Given the description of an element on the screen output the (x, y) to click on. 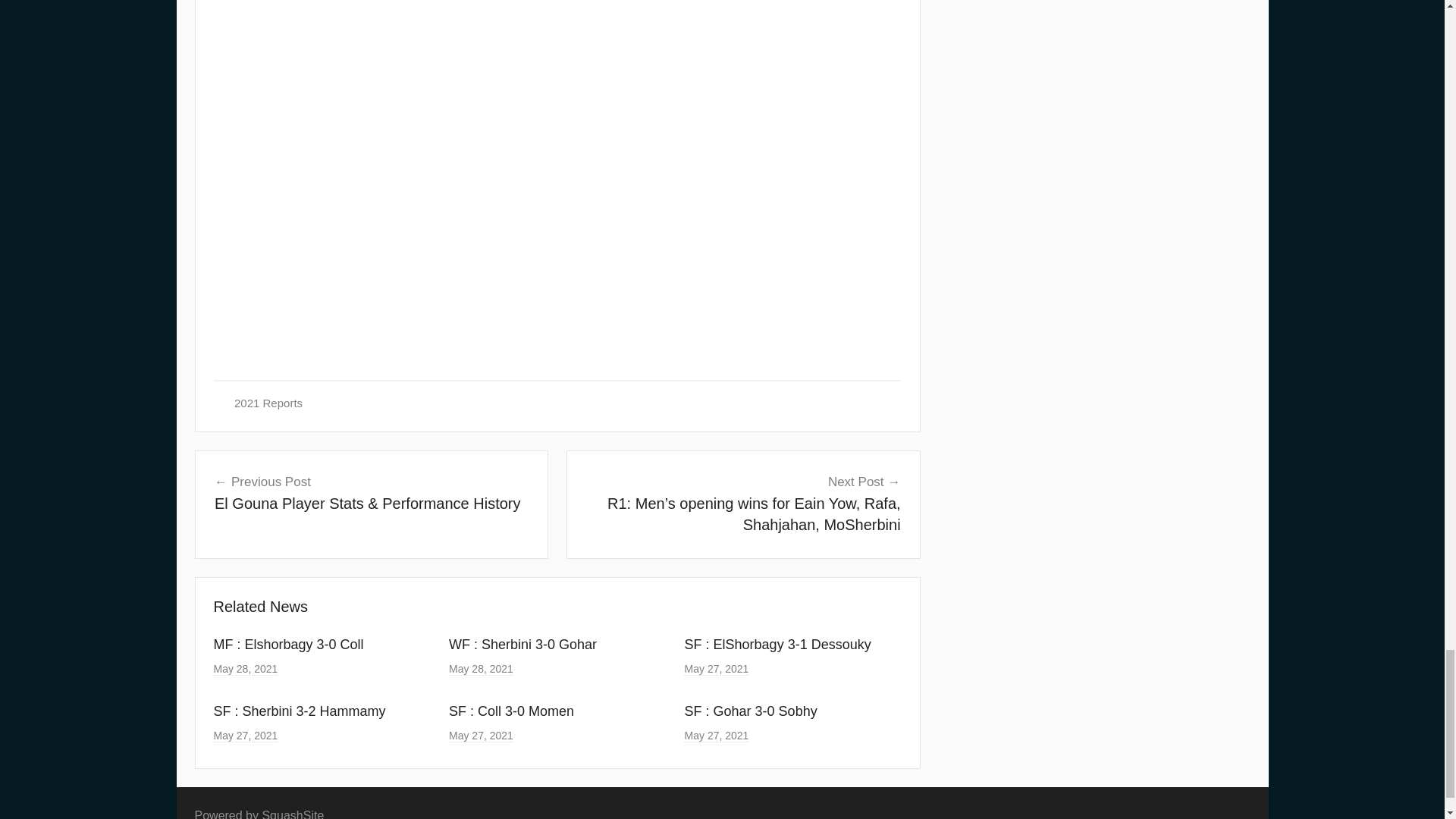
May 28, 2021 (480, 668)
9:03 pm (480, 668)
May 28, 2021 (246, 668)
7:18 pm (716, 735)
2021 Reports (268, 402)
MF : Elshorbagy 3-0 Coll (289, 644)
WF : Sherbini 3-0 Gohar (522, 644)
10:08 pm (246, 735)
10:16 pm (246, 668)
